Given the description of an element on the screen output the (x, y) to click on. 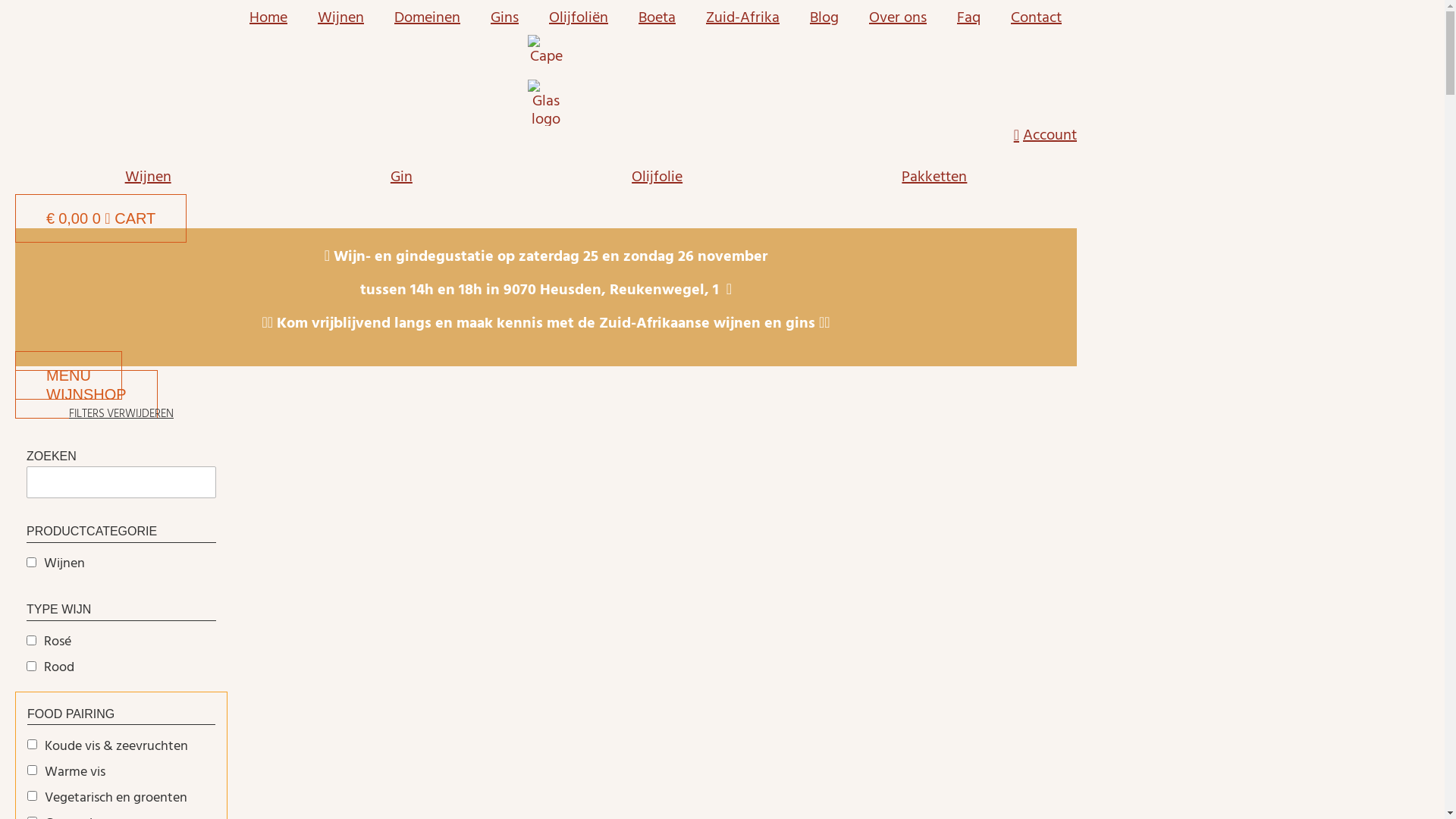
Contact Element type: text (1035, 17)
Over ons Element type: text (897, 17)
Gins Element type: text (504, 17)
Olijfolie Element type: text (656, 176)
Pakketten Element type: text (934, 176)
Account Element type: text (545, 134)
WIJNSHOP Element type: text (86, 394)
Gin Element type: text (400, 176)
Wijnen Element type: text (340, 17)
Zuid-Afrika Element type: text (742, 17)
Faq Element type: text (968, 17)
Domeinen Element type: text (427, 17)
Home Element type: text (268, 17)
Boeta Element type: text (656, 17)
FILTERS VERWIJDEREN Element type: text (121, 413)
Blog Element type: text (823, 17)
MENU Element type: text (68, 375)
Wijnen Element type: text (147, 176)
